Given the description of an element on the screen output the (x, y) to click on. 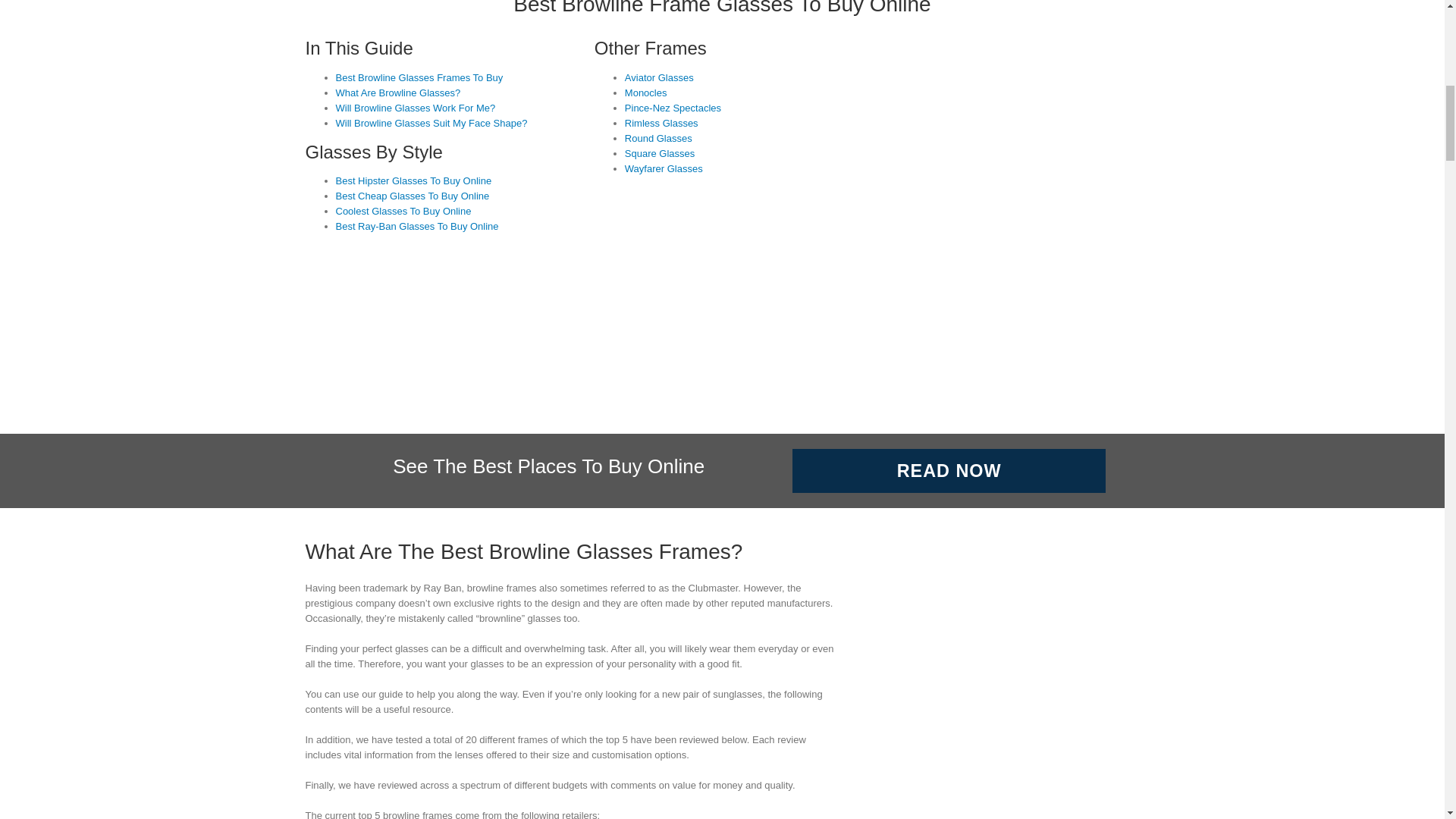
Row Of Three Glasses Separator (721, 363)
